Given the description of an element on the screen output the (x, y) to click on. 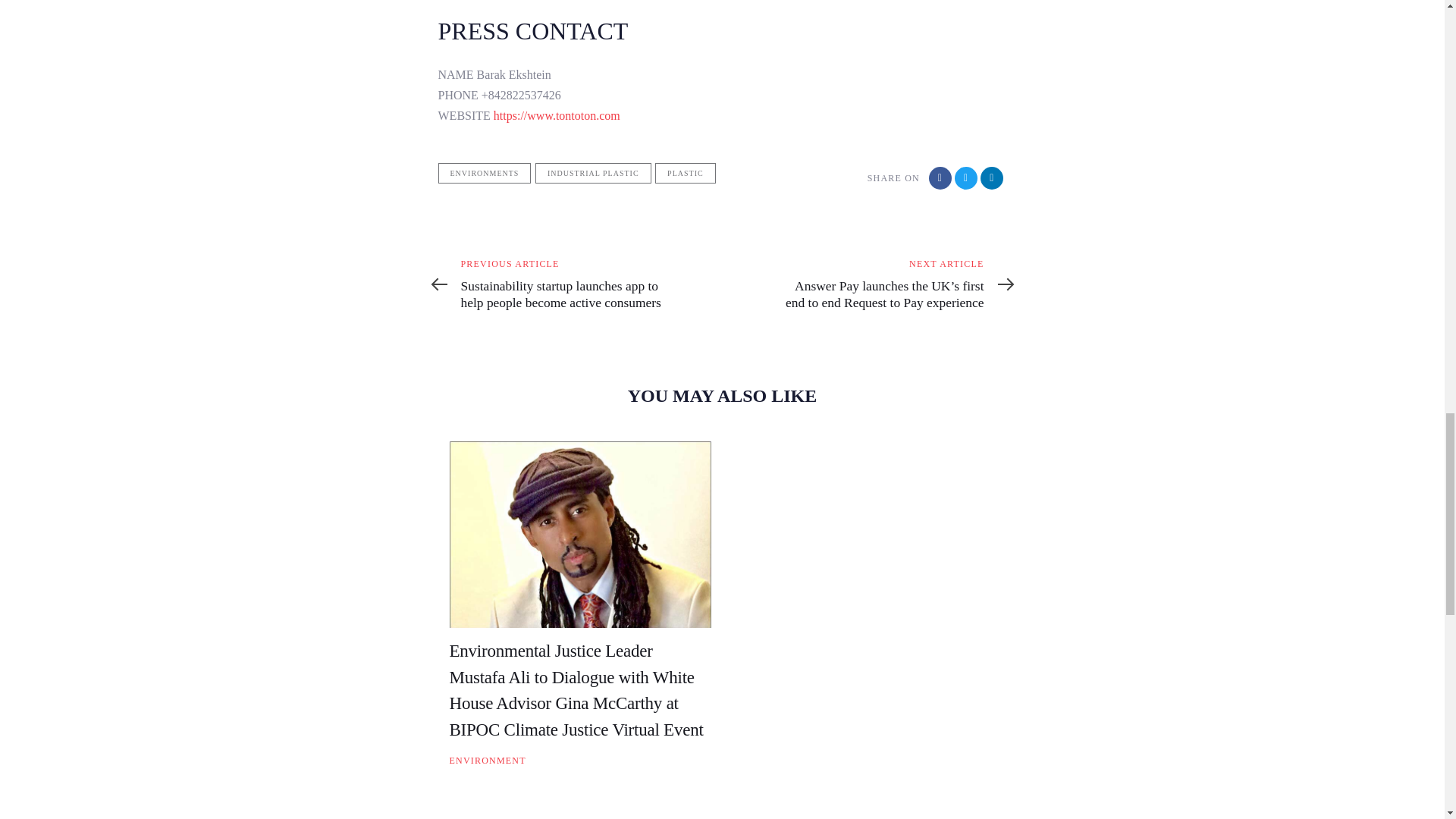
ENVIRONMENTS (484, 172)
INDUSTRIAL PLASTIC (592, 172)
ENVIRONMENT (486, 760)
PLASTIC (685, 172)
